Given the description of an element on the screen output the (x, y) to click on. 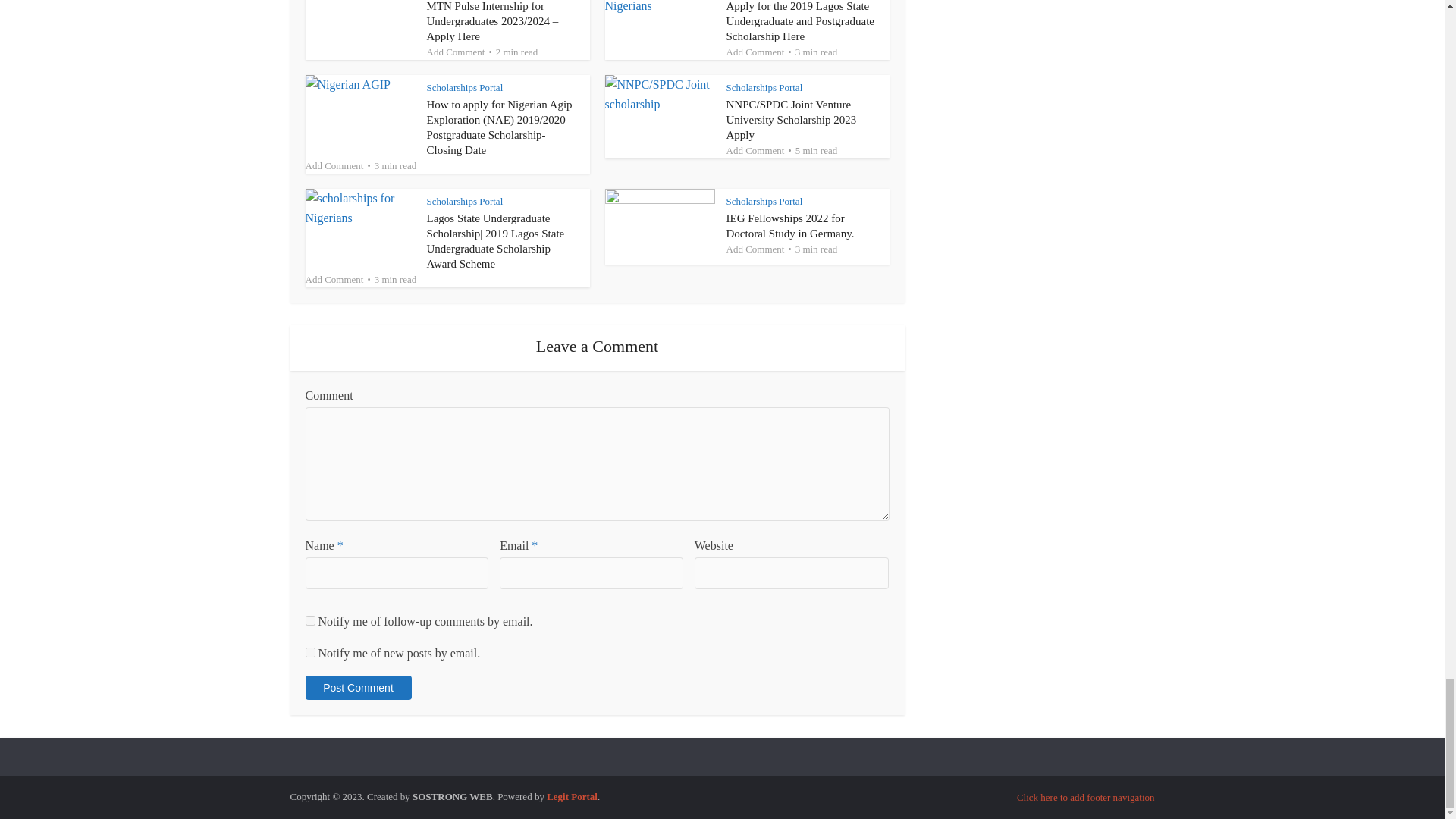
Post Comment (357, 687)
subscribe (309, 652)
subscribe (309, 620)
